Given the description of an element on the screen output the (x, y) to click on. 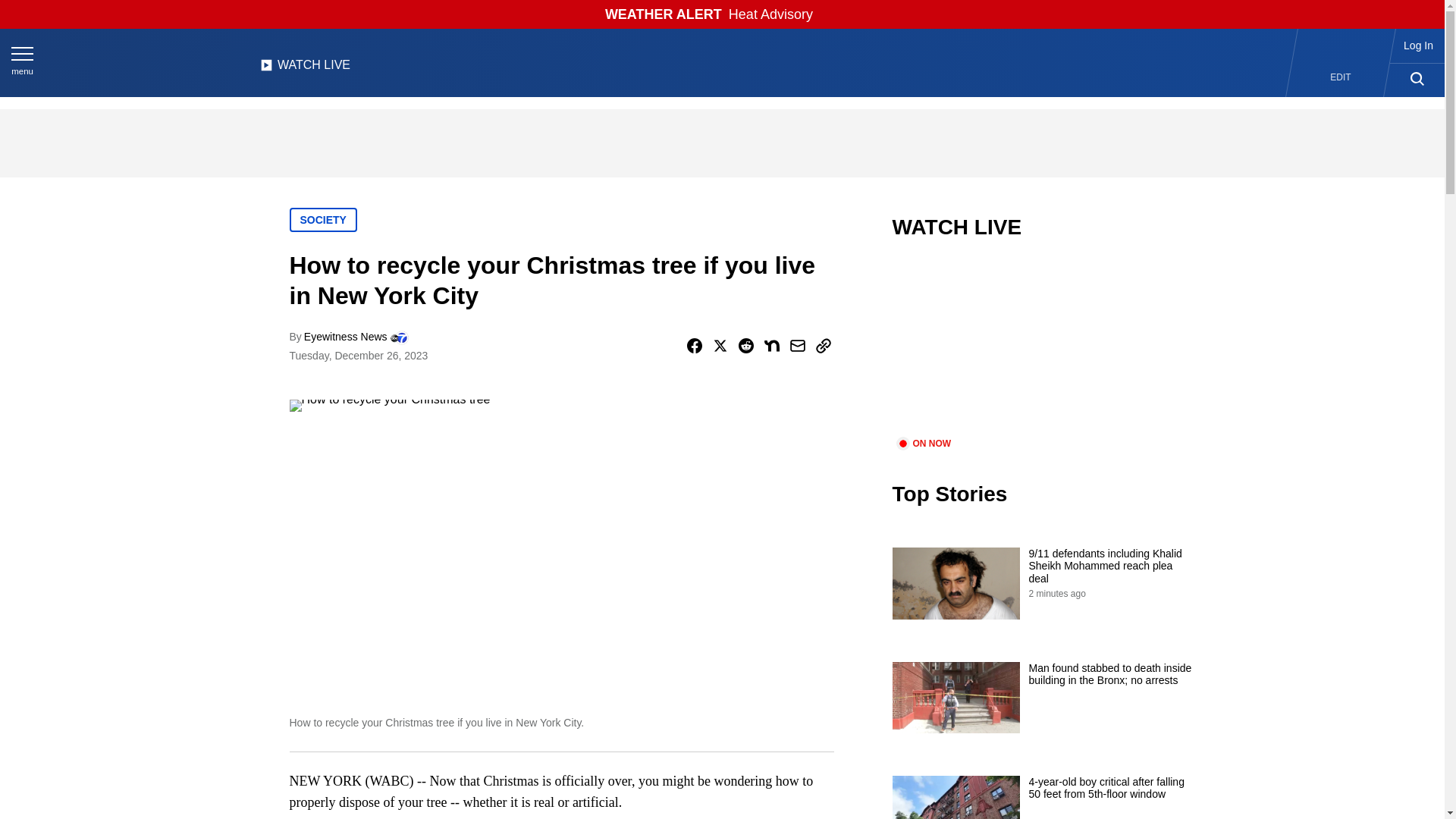
video.title (1043, 347)
EDIT (1340, 77)
WATCH LIVE (305, 69)
